Given the description of an element on the screen output the (x, y) to click on. 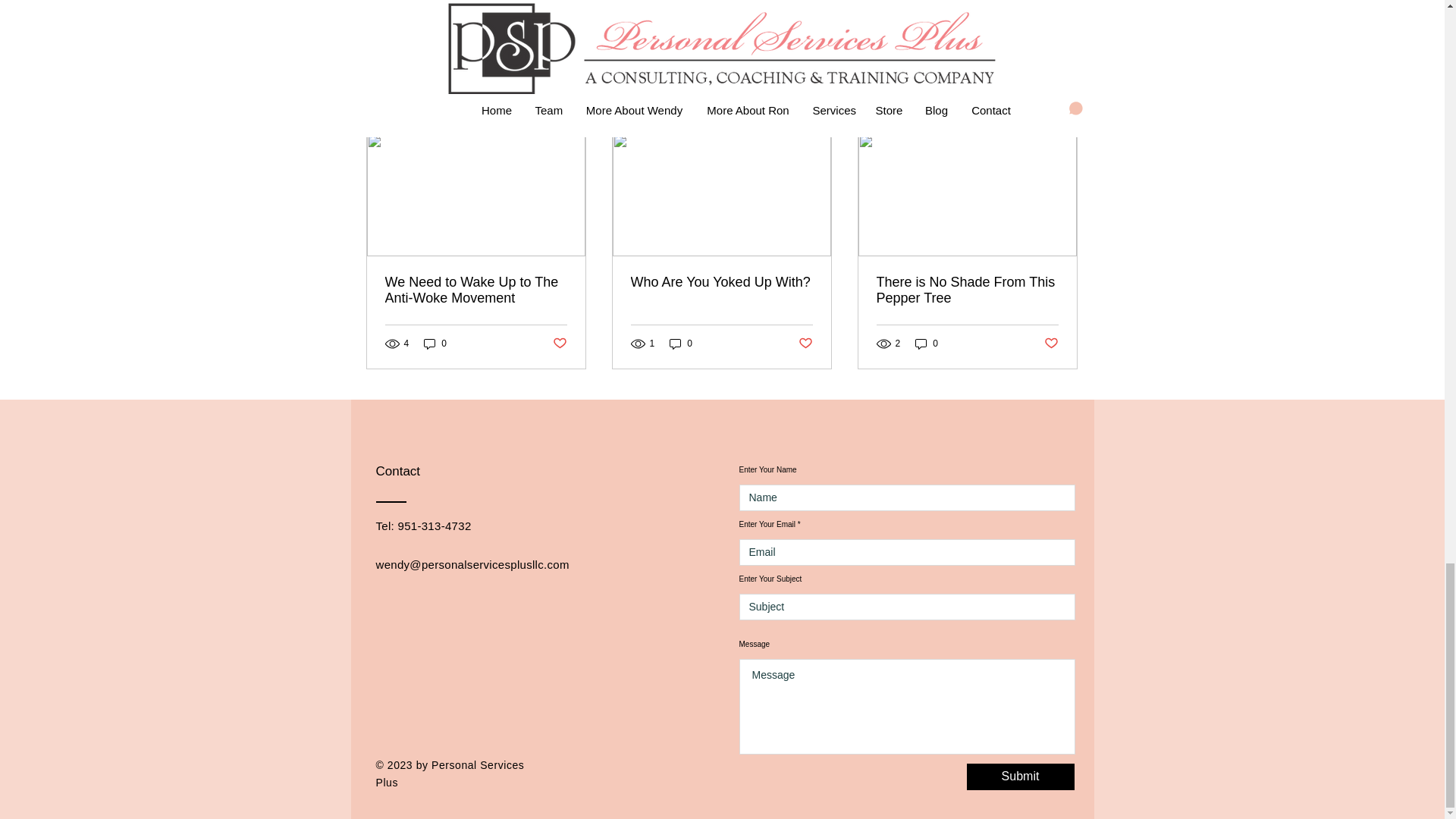
We Need to Wake Up to The Anti-Woke Movement (476, 290)
See All (1061, 106)
Post not marked as liked (804, 343)
0 (926, 343)
Post not marked as liked (558, 343)
0 (435, 343)
There is No Shade From This Pepper Tree (967, 290)
Post not marked as liked (1050, 343)
Post not marked as liked (995, 23)
0 (681, 343)
Who Are You Yoked Up With? (721, 282)
